Given the description of an element on the screen output the (x, y) to click on. 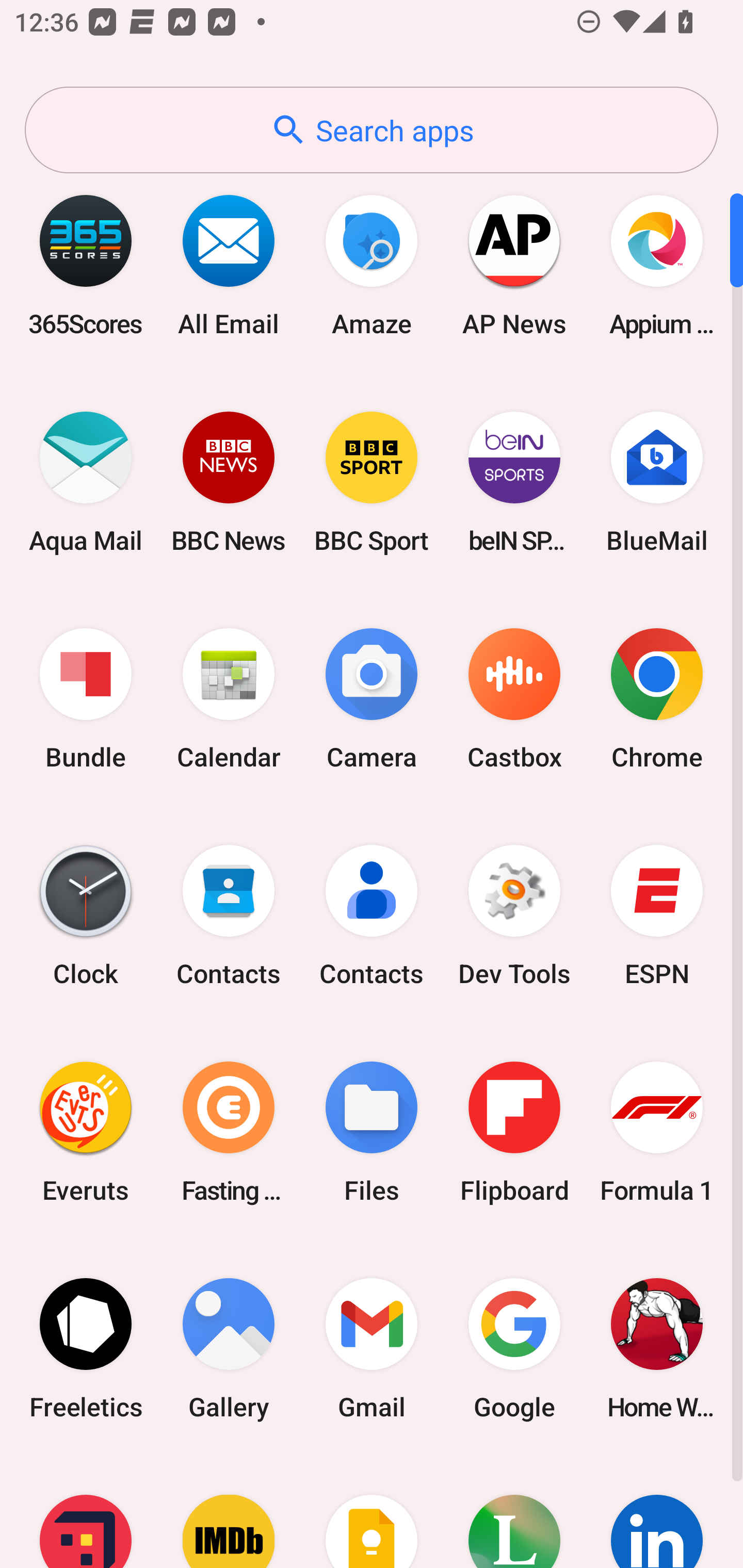
  Search apps (371, 130)
365Scores (85, 264)
All Email (228, 264)
Amaze (371, 264)
AP News (514, 264)
Appium Settings (656, 264)
Aqua Mail (85, 482)
BBC News (228, 482)
BBC Sport (371, 482)
beIN SPORTS (514, 482)
BlueMail (656, 482)
Bundle (85, 699)
Calendar (228, 699)
Camera (371, 699)
Castbox (514, 699)
Chrome (656, 699)
Clock (85, 915)
Contacts (228, 915)
Contacts (371, 915)
Dev Tools (514, 915)
ESPN (656, 915)
Everuts (85, 1131)
Fasting Coach (228, 1131)
Files (371, 1131)
Flipboard (514, 1131)
Formula 1 (656, 1131)
Freeletics (85, 1348)
Gallery (228, 1348)
Gmail (371, 1348)
Google (514, 1348)
Home Workout (656, 1348)
Hotels.com (85, 1512)
IMDb (228, 1512)
Keep Notes (371, 1512)
Lifesum (514, 1512)
LinkedIn (656, 1512)
